Given the description of an element on the screen output the (x, y) to click on. 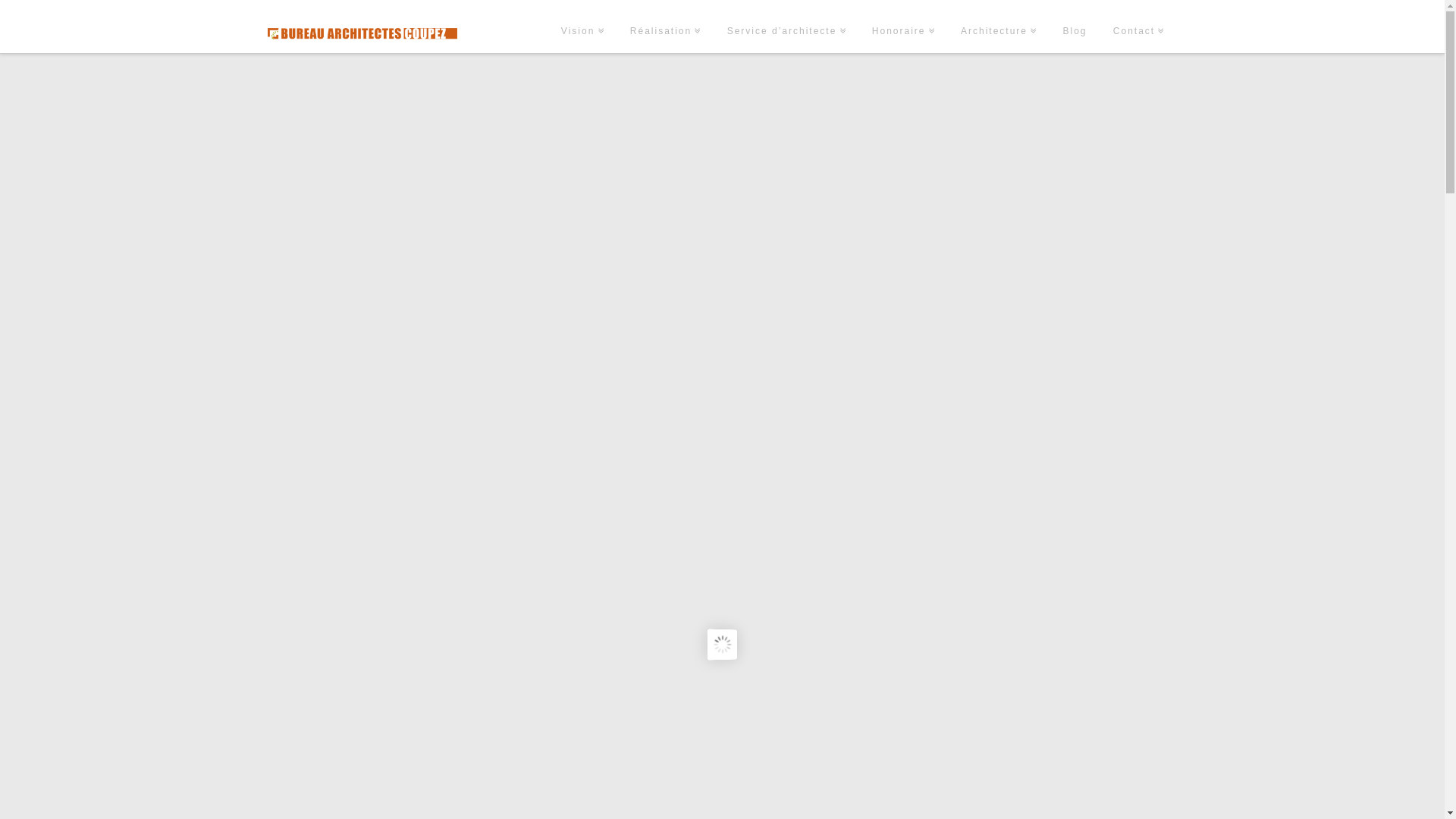
Vision Element type: text (582, 26)
Blog Element type: text (1074, 26)
Honoraire Element type: text (903, 26)
Architecture Element type: text (998, 26)
Contact Element type: text (1138, 26)
